Given the description of an element on the screen output the (x, y) to click on. 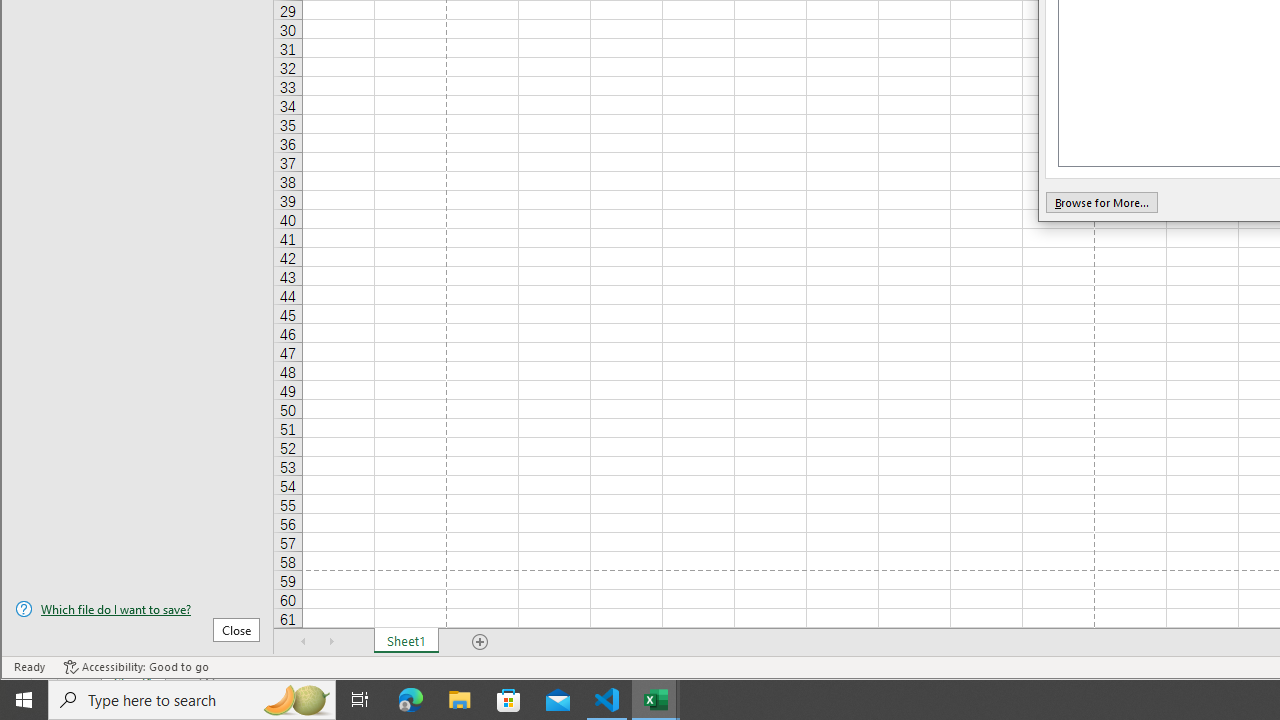
Search highlights icon opens search home window (295, 699)
Type here to search (191, 699)
Excel - 2 running windows (656, 699)
